Given the description of an element on the screen output the (x, y) to click on. 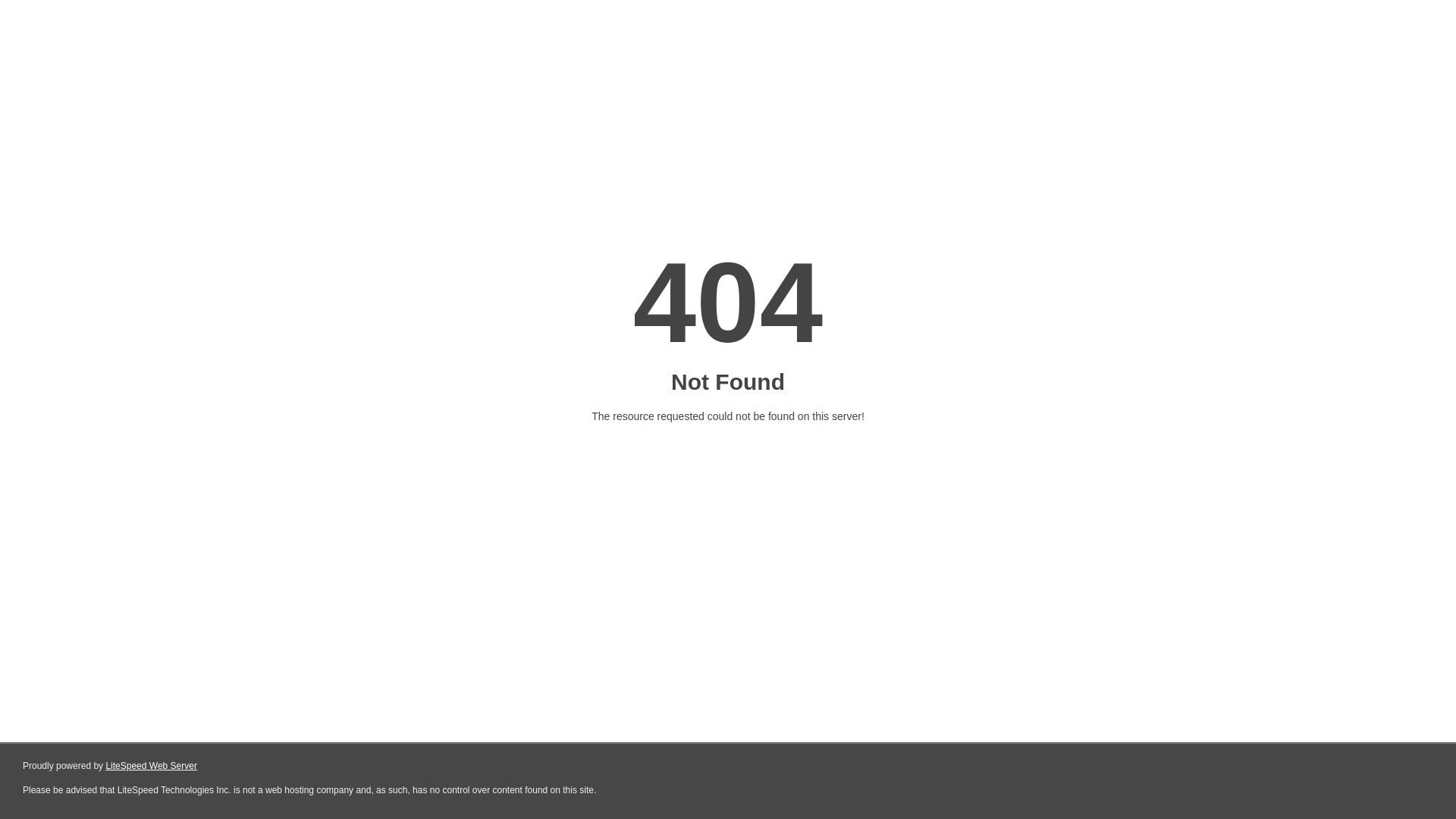
LiteSpeed Web Server Element type: text (151, 765)
